Given the description of an element on the screen output the (x, y) to click on. 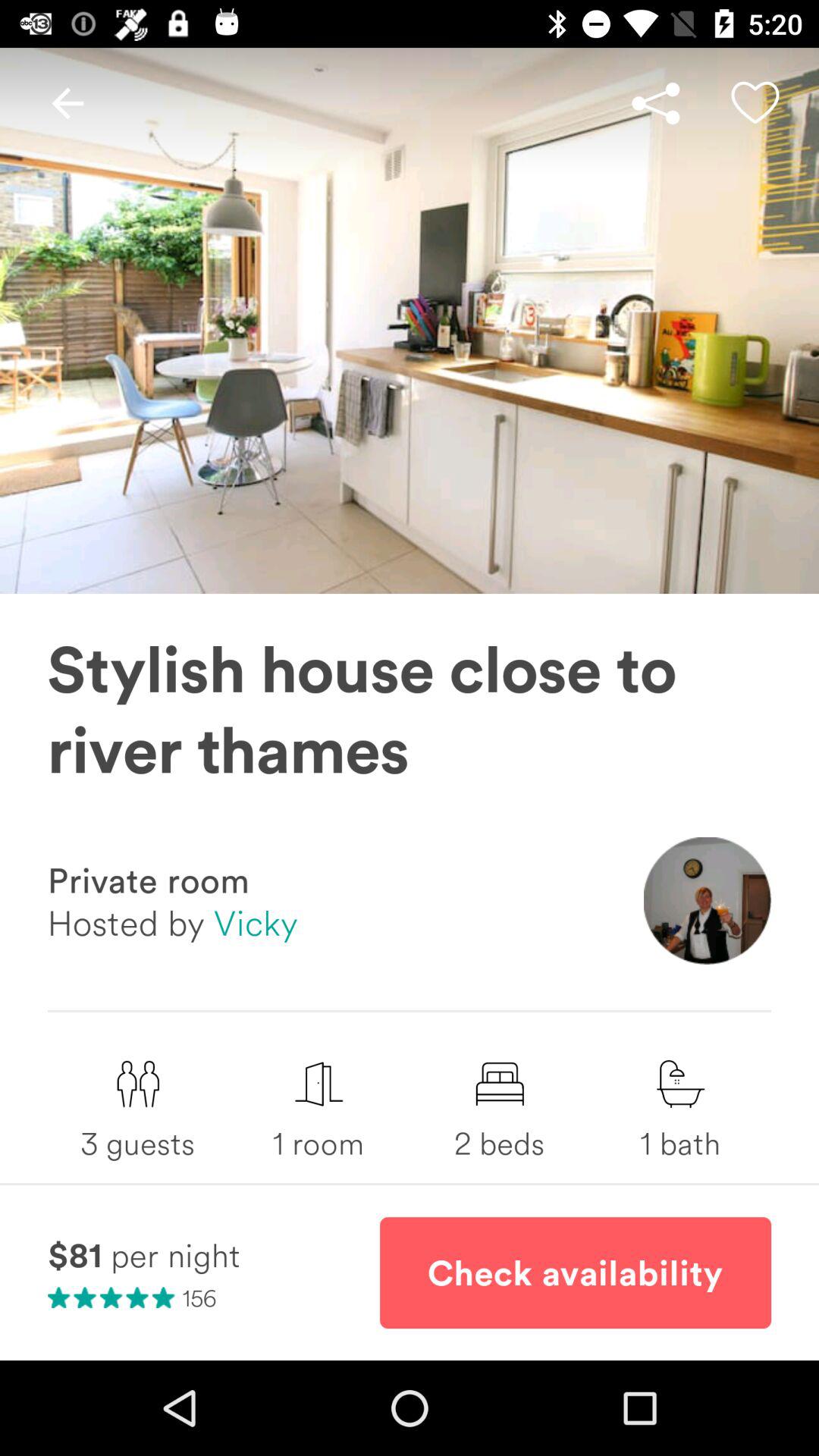
swipe until hosted by vicky (172, 922)
